Given the description of an element on the screen output the (x, y) to click on. 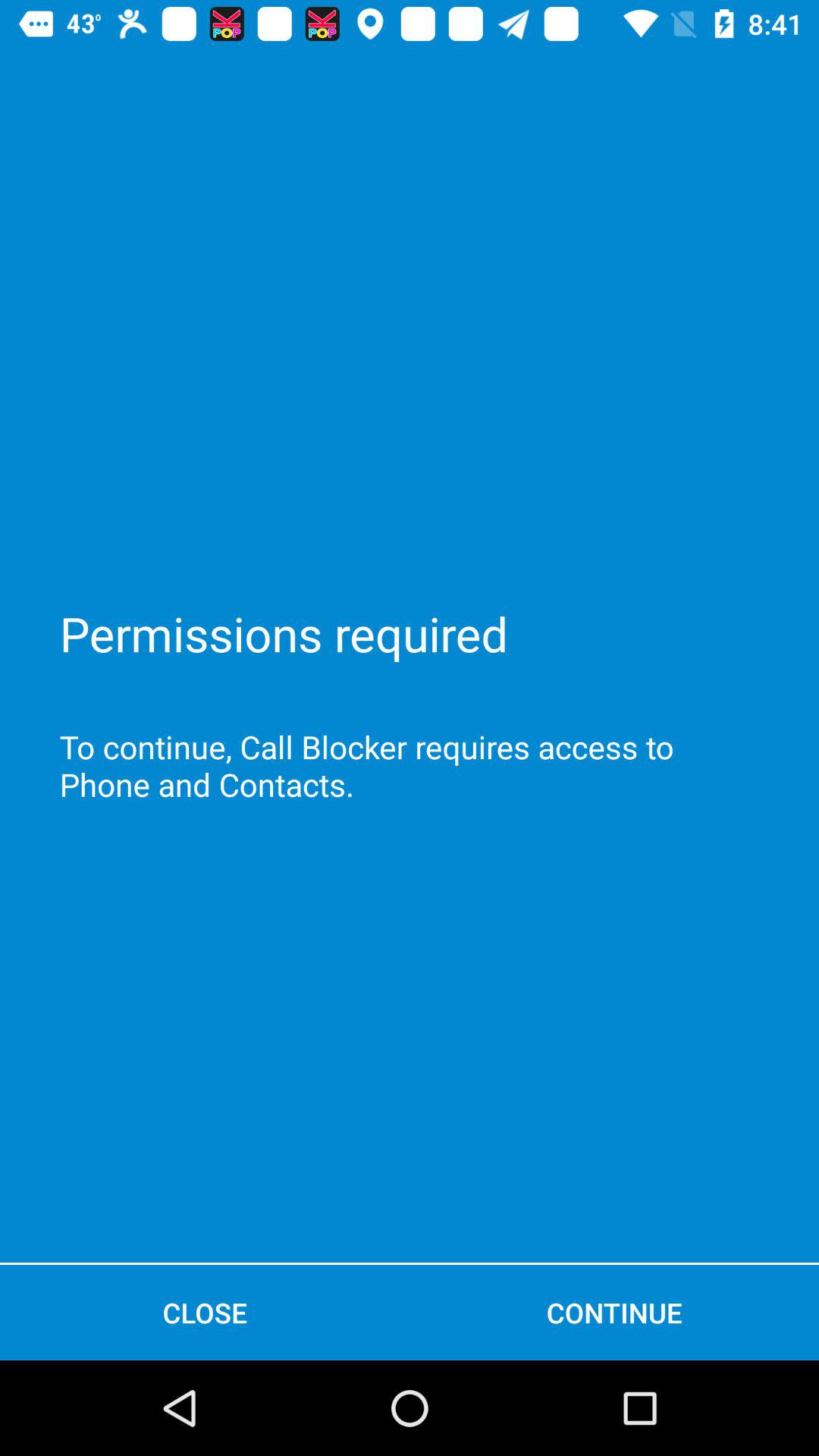
select item to the left of the continue icon (204, 1312)
